Given the description of an element on the screen output the (x, y) to click on. 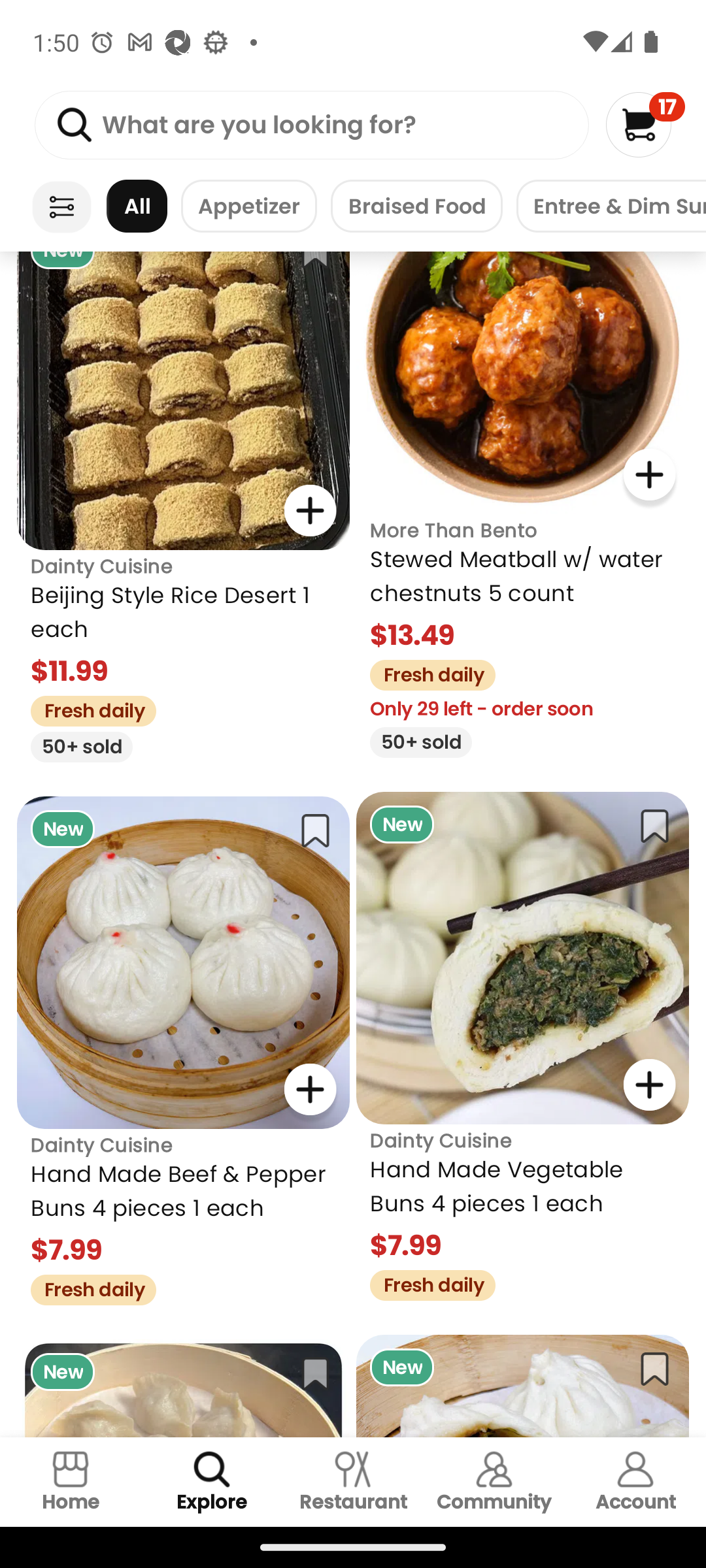
What are you looking for? (311, 124)
17 (644, 124)
All (136, 206)
Appetizer (248, 206)
Braised Food (416, 206)
Entree & Dim Sum (611, 206)
Fresh daily (425, 672)
Fresh daily (86, 707)
Fresh daily (425, 1283)
Fresh daily (86, 1287)
Home (70, 1482)
Explore (211, 1482)
Restaurant (352, 1482)
Community (493, 1482)
Account (635, 1482)
